Given the description of an element on the screen output the (x, y) to click on. 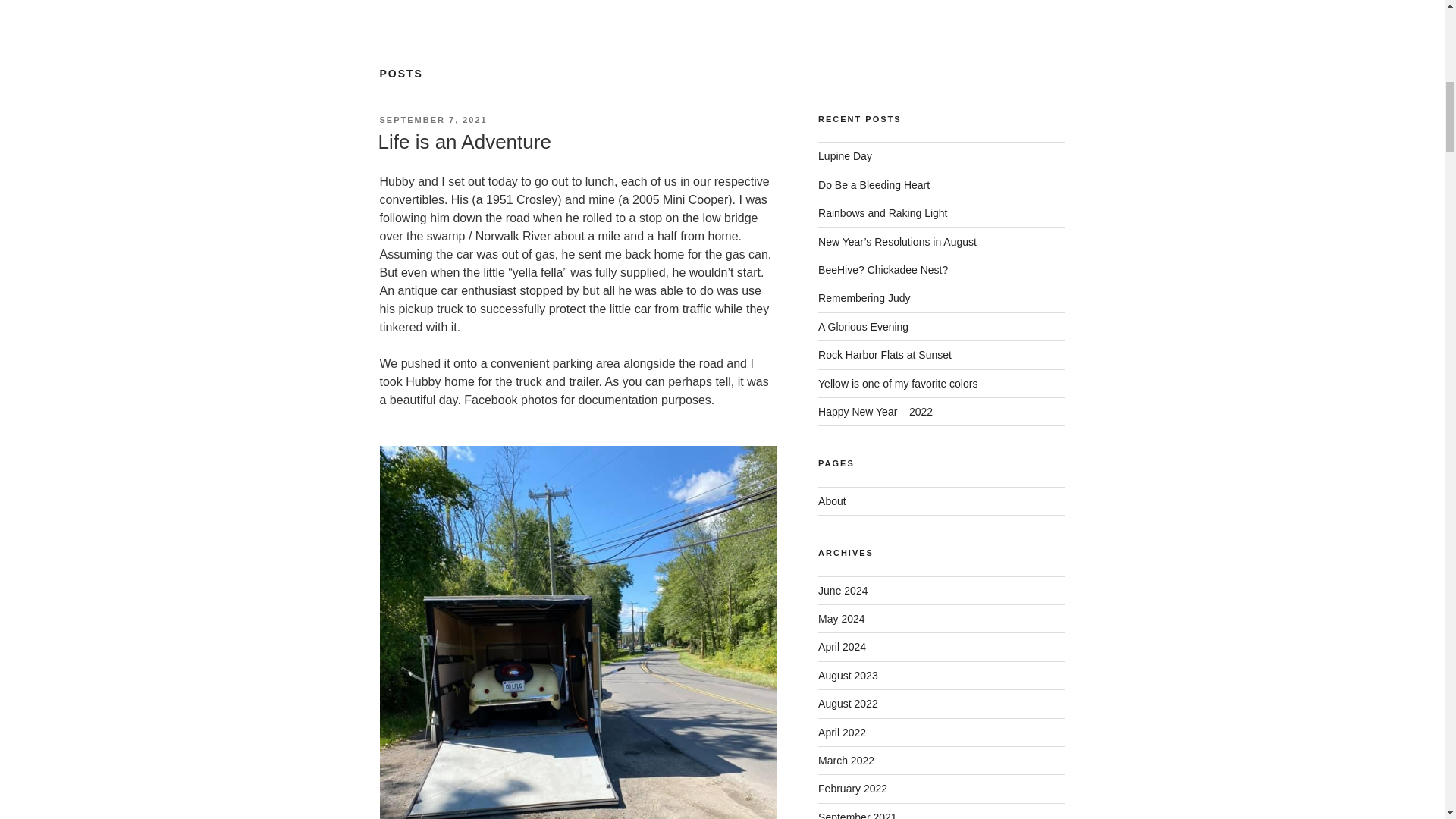
Rainbows and Raking Light (882, 213)
SEPTEMBER 7, 2021 (432, 119)
A Glorious Evening (863, 326)
Life is an Adventure (463, 141)
Rock Harbor Flats at Sunset (885, 354)
Lupine Day (845, 155)
Remembering Judy (864, 297)
Do Be a Bleeding Heart (874, 184)
BeeHive? Chickadee Nest? (882, 269)
